Given the description of an element on the screen output the (x, y) to click on. 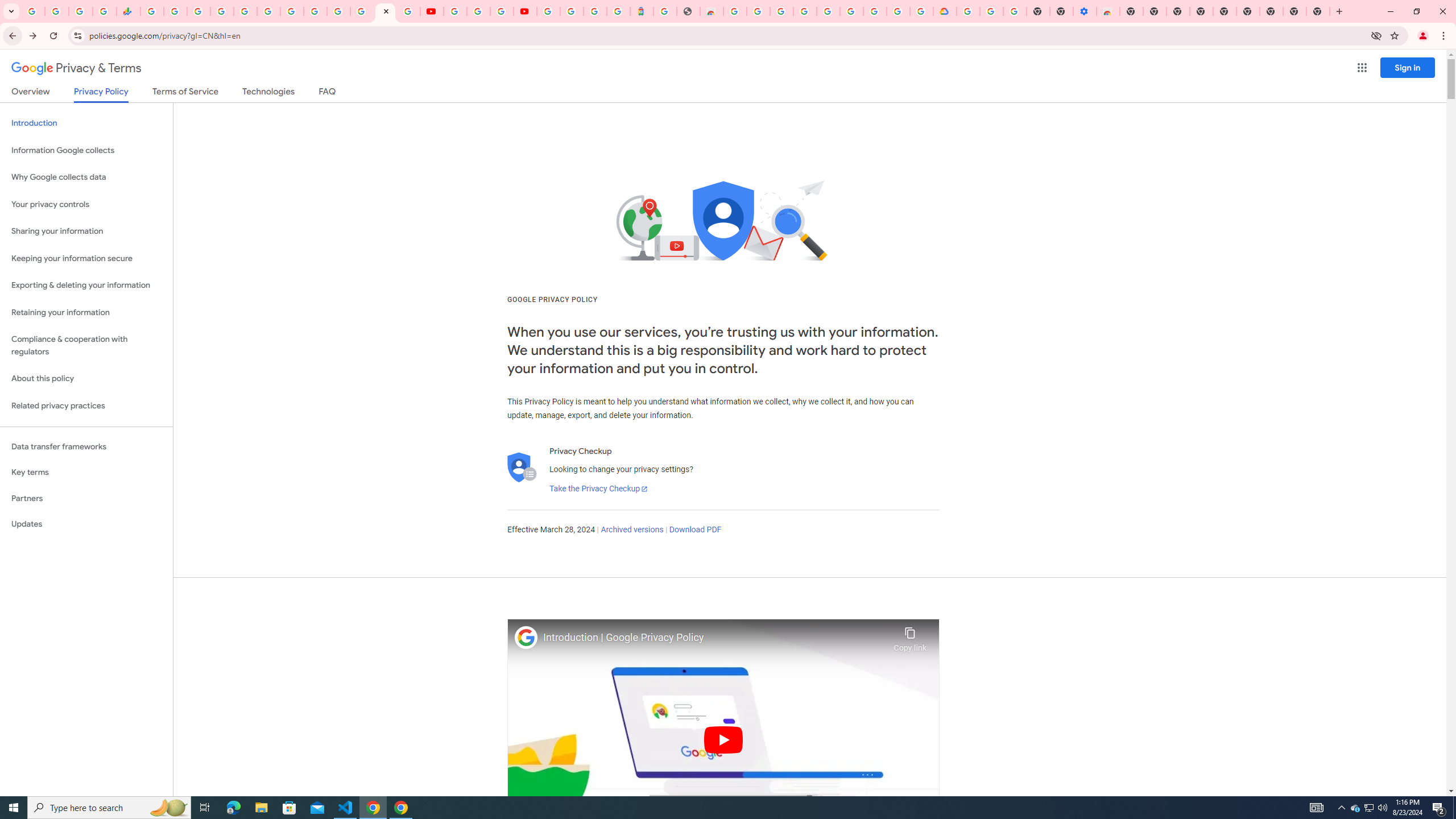
Content Creator Programs & Opportunities - YouTube Creators (524, 11)
Sign in - Google Accounts (221, 11)
YouTube (431, 11)
Take the Privacy Checkup (597, 488)
Introduction | Google Privacy Policy (715, 637)
YouTube (454, 11)
Create your Google Account (897, 11)
Terms of Service (184, 93)
Technologies (268, 93)
Google Workspace Admin Community (32, 11)
